Given the description of an element on the screen output the (x, y) to click on. 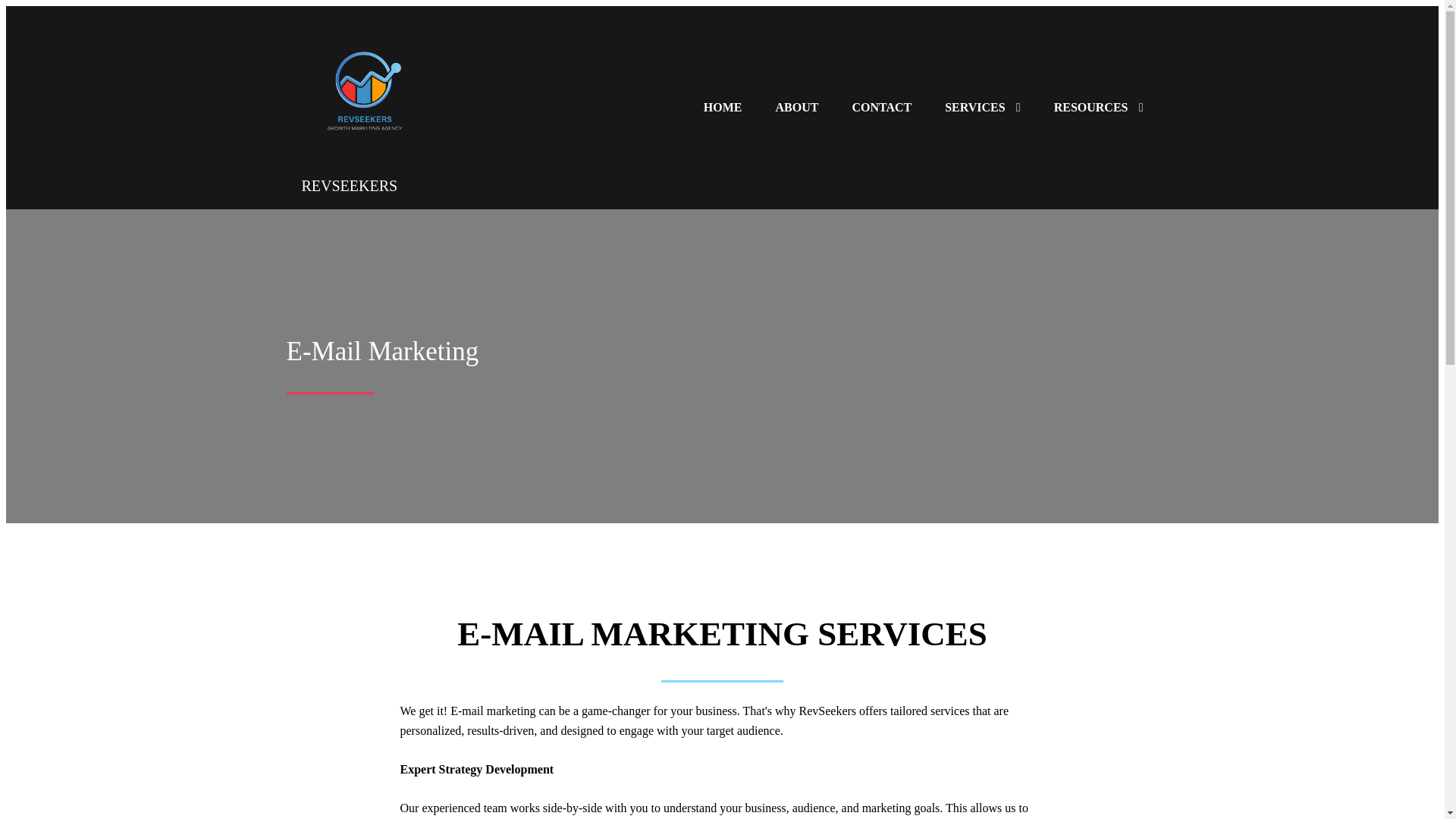
REVSEEKERS (411, 177)
HOME (722, 107)
CONTACT (880, 107)
ABOUT (796, 107)
RESOURCES (1098, 107)
SERVICES (982, 107)
